Given the description of an element on the screen output the (x, y) to click on. 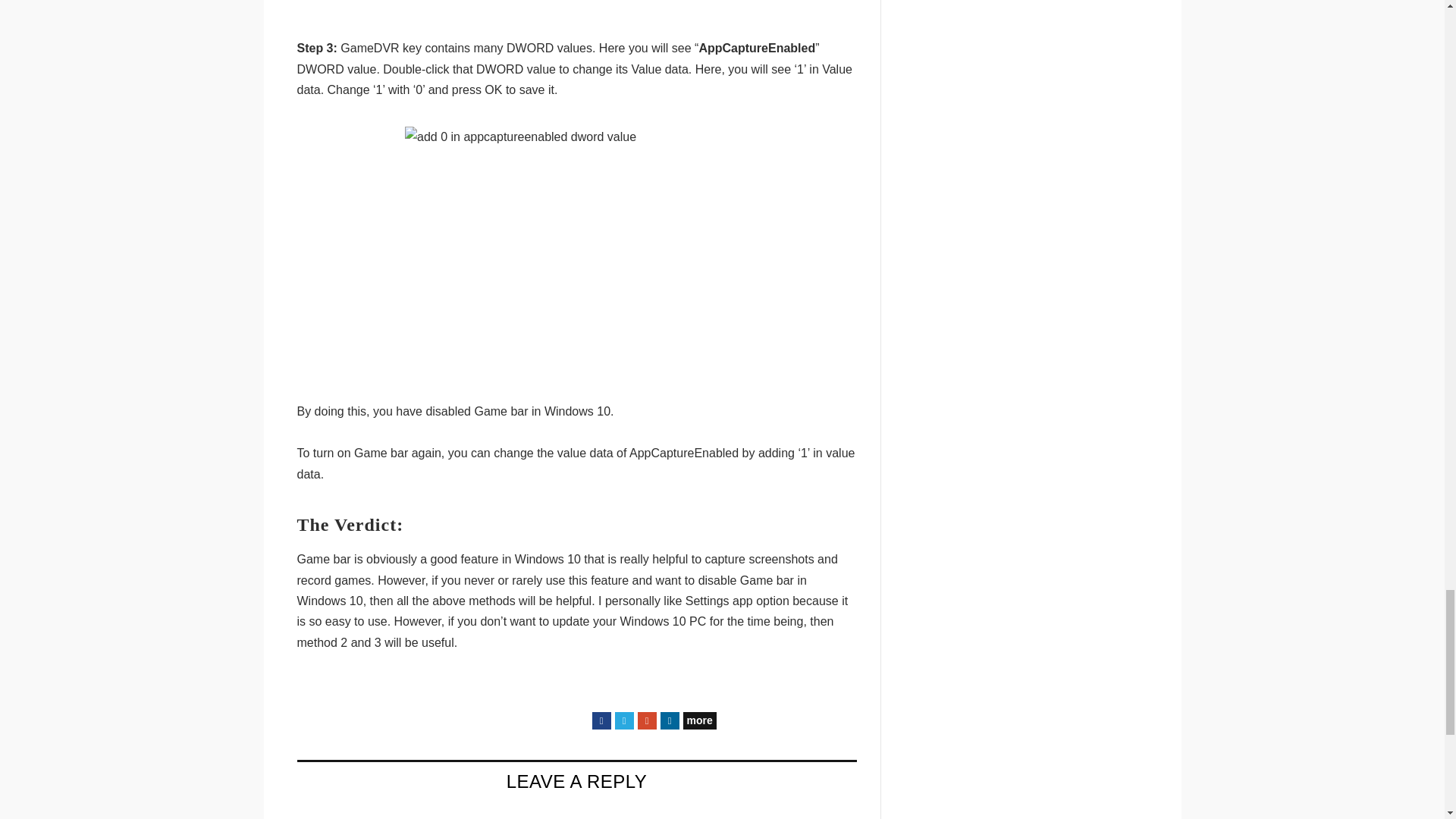
Tweet It (623, 720)
Share on LinkedIn (668, 720)
access GameDVR key (576, 5)
Share on Facebook (600, 720)
Facebook (600, 720)
add 0 in appcaptureenabled dword value (576, 250)
LinkedIn (668, 720)
Twitter (623, 720)
